Given the description of an element on the screen output the (x, y) to click on. 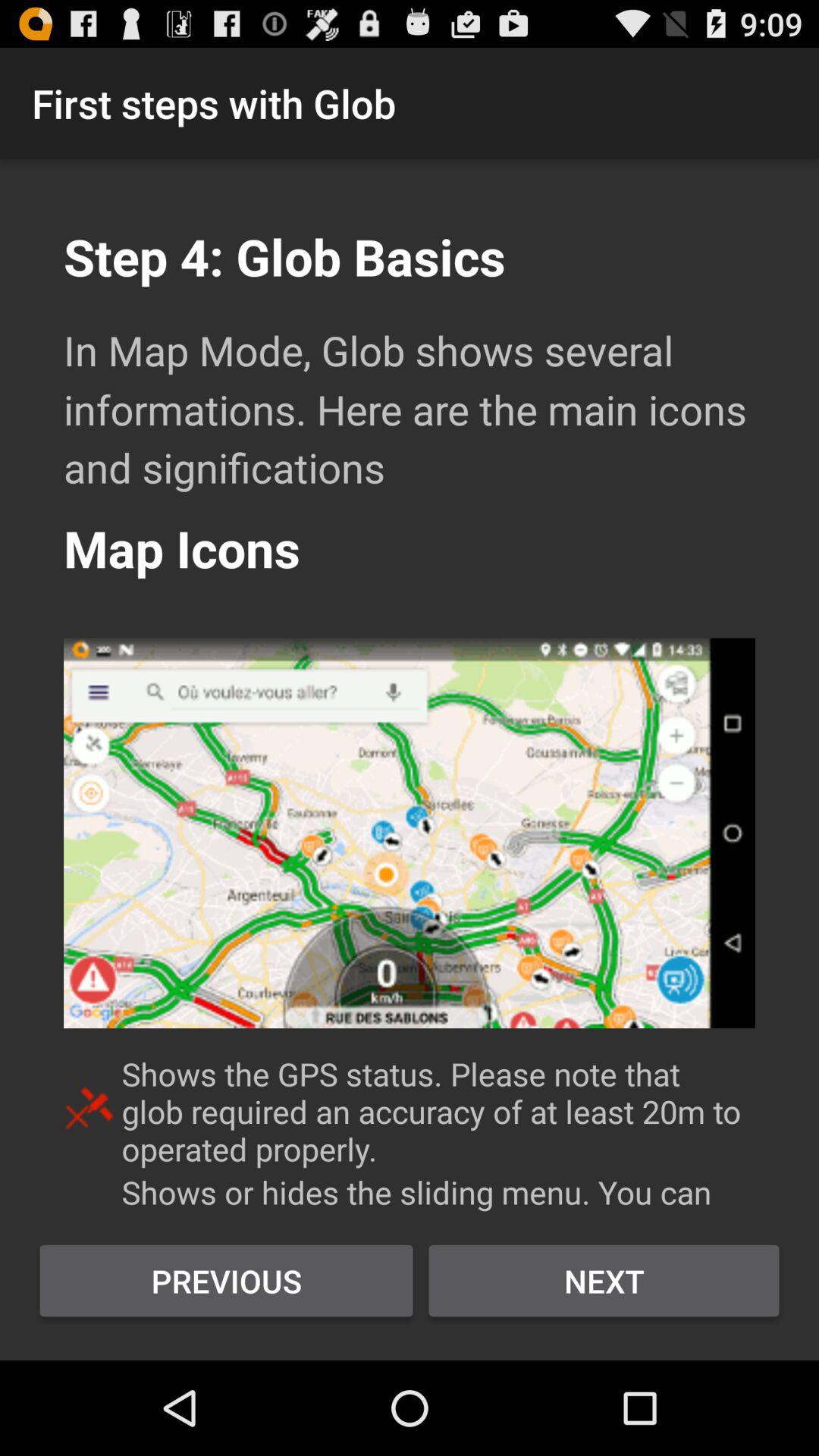
click previous button (225, 1280)
